Given the description of an element on the screen output the (x, y) to click on. 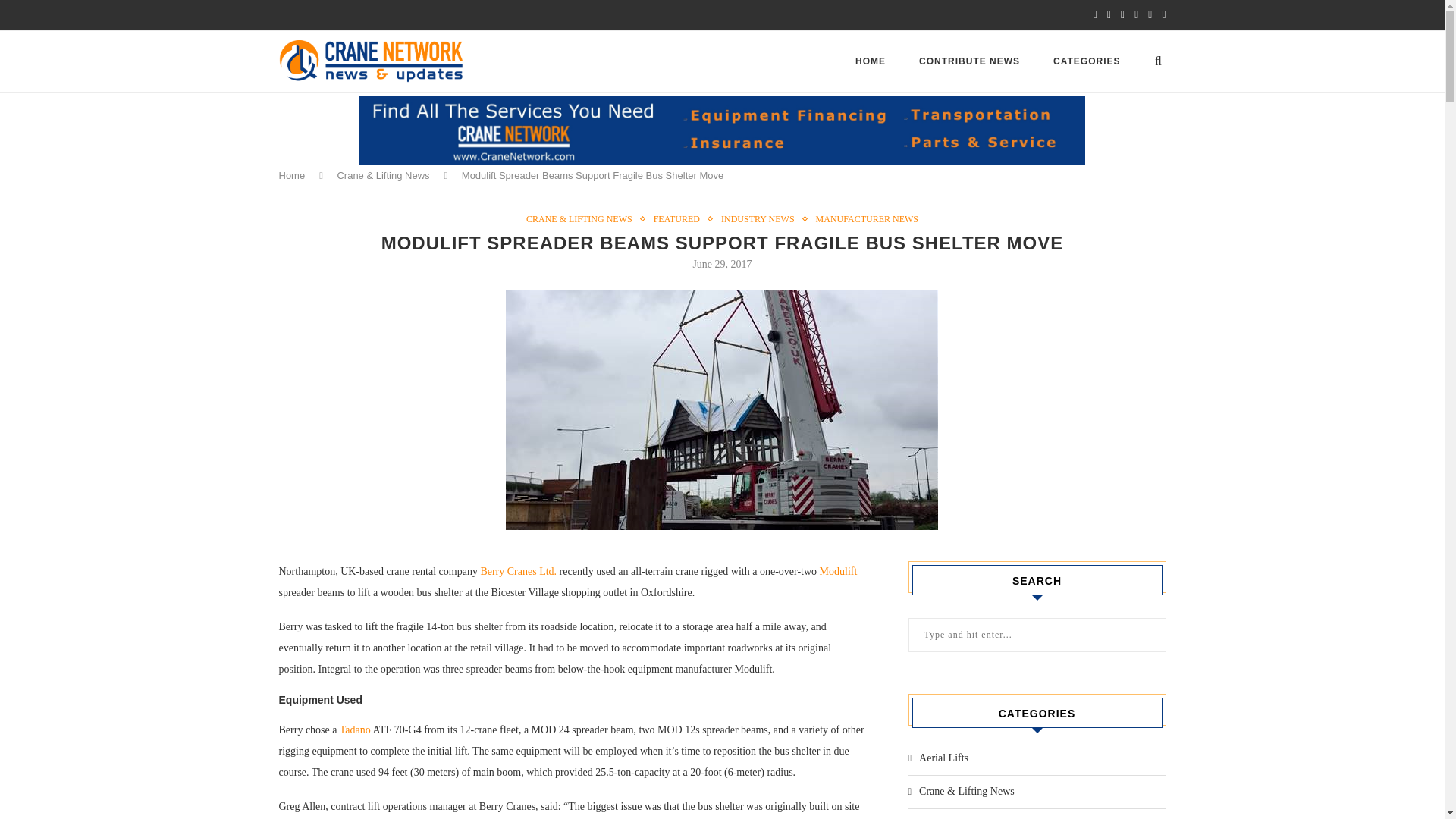
View all posts in Manufacturer News (866, 218)
View all posts in Industry News (761, 218)
CONTRIBUTE NEWS (969, 61)
View all posts in Featured (680, 218)
